Given the description of an element on the screen output the (x, y) to click on. 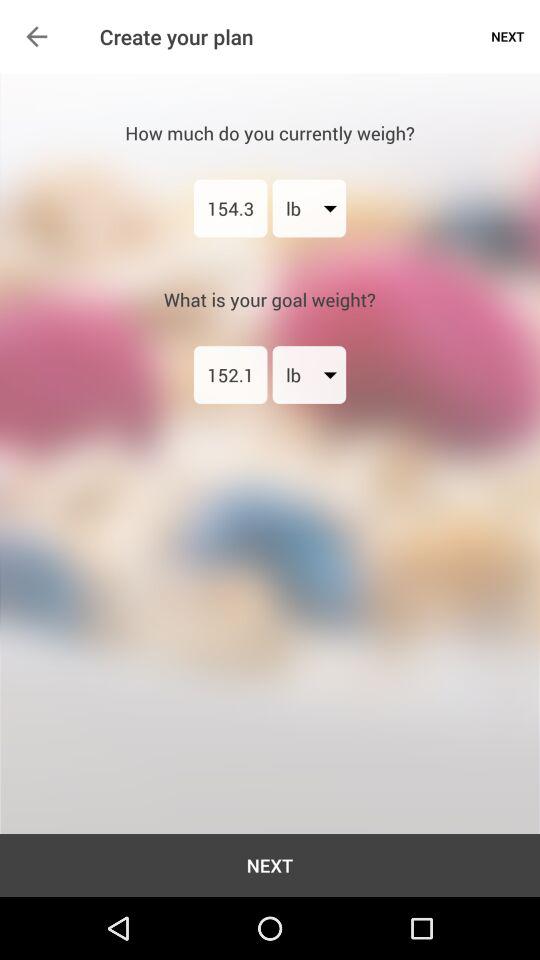
open the item below the what is your item (230, 374)
